Given the description of an element on the screen output the (x, y) to click on. 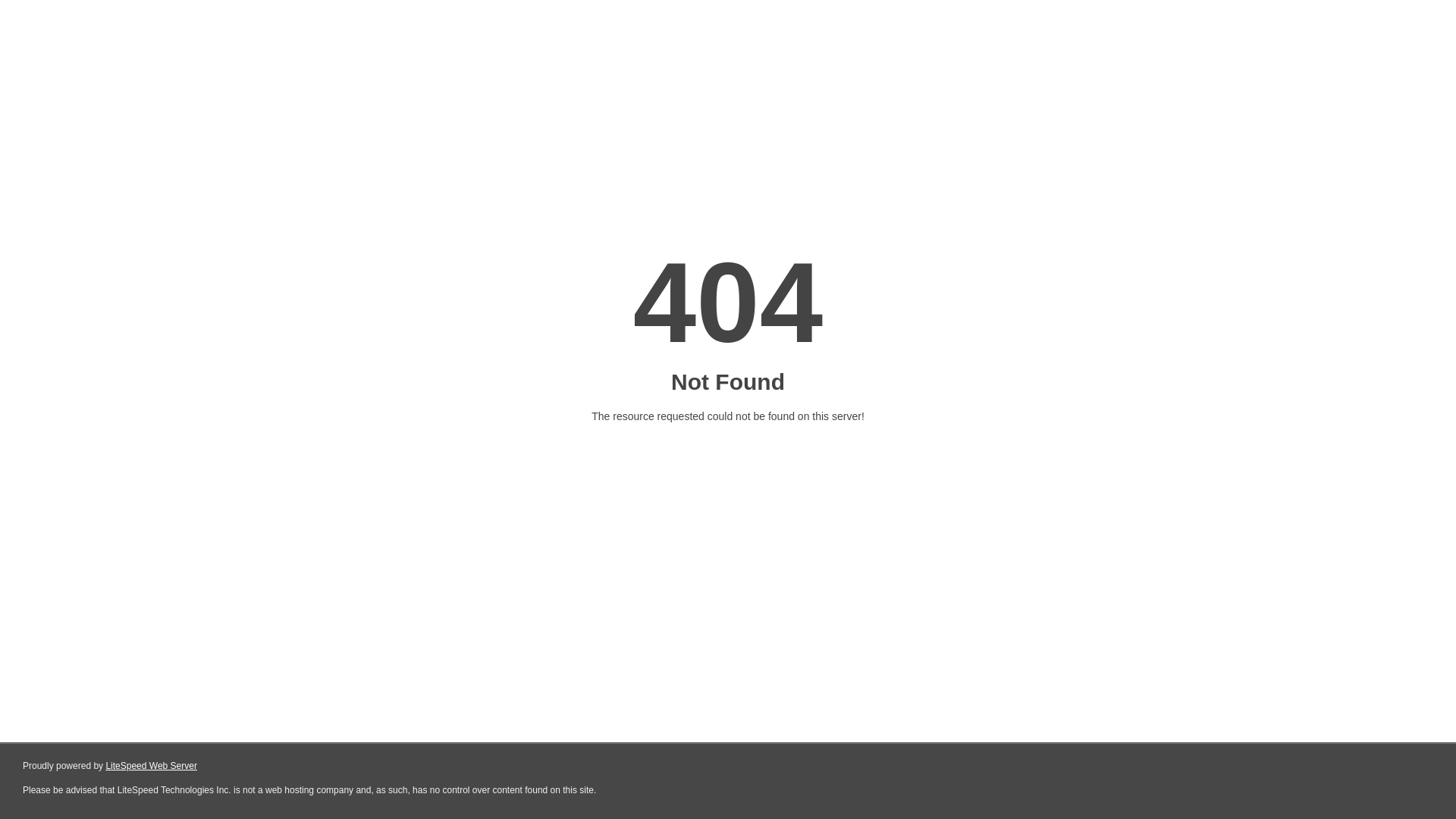
LiteSpeed Web Server Element type: text (151, 765)
